Given the description of an element on the screen output the (x, y) to click on. 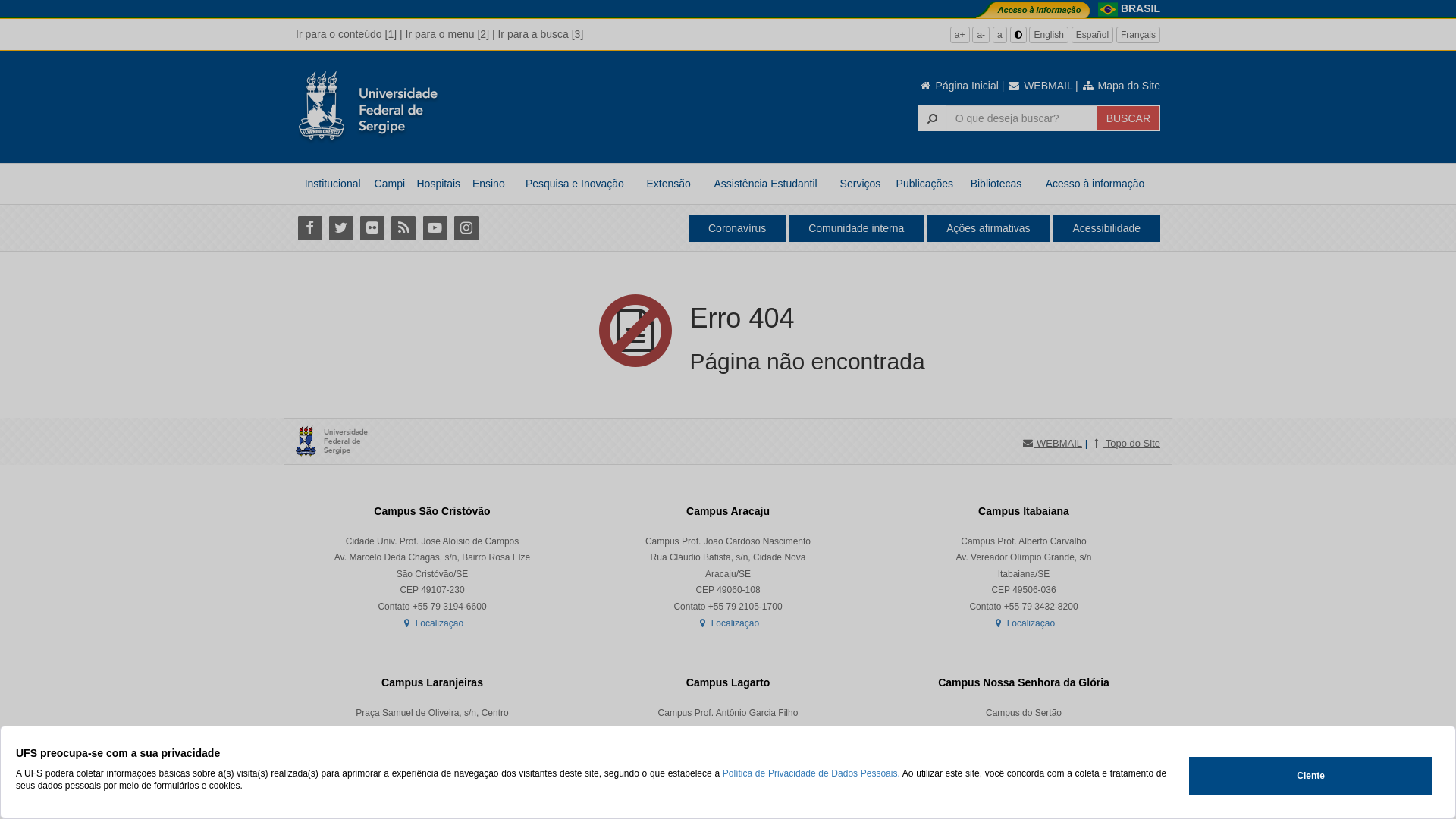
Bibliotecas Element type: text (995, 183)
a+ Element type: text (959, 34)
Twitter Element type: text (340, 227)
Acessibilidade Element type: text (1106, 227)
a- Element type: text (980, 34)
Mapa do Site Element type: text (1120, 85)
WEBMAIL Element type: text (1039, 85)
Facebook Element type: text (309, 227)
RSS Element type: text (403, 227)
Ensino Element type: text (488, 183)
WEBMAIL Element type: text (1051, 443)
Topo do Site Element type: text (1125, 443)
Comunidade interna Element type: text (855, 227)
English Element type: text (1048, 34)
Ir para a busca [3] Element type: text (540, 34)
Youtube Element type: text (434, 227)
Campi Element type: text (389, 183)
a Element type: text (999, 34)
Flickr Element type: text (371, 227)
Instagram Element type: text (465, 227)
Hospitais Element type: text (438, 183)
BRASIL Element type: text (1140, 8)
Ir para o menu [2] Element type: text (447, 34)
Institucional Element type: text (332, 183)
BUSCAR Element type: text (1128, 118)
